Given the description of an element on the screen output the (x, y) to click on. 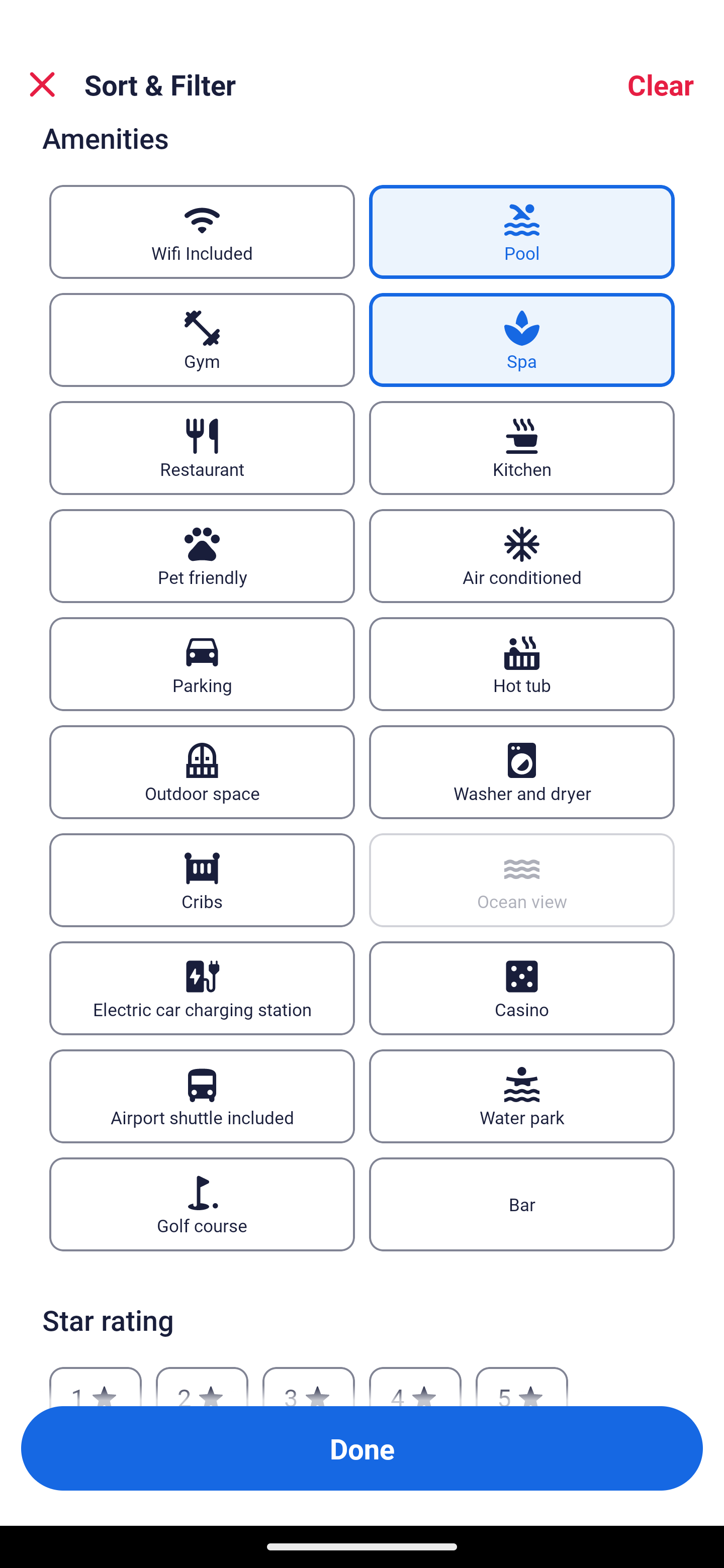
Close Sort and Filter (42, 84)
Clear (660, 84)
Wifi Included (201, 232)
Pool (521, 232)
Gym (201, 340)
Spa (521, 340)
Restaurant (201, 448)
Kitchen (521, 448)
Pet friendly (201, 556)
Air conditioned (521, 556)
Parking (201, 664)
Hot tub (521, 664)
Outdoor space (201, 771)
Washer and dryer (521, 771)
Cribs (201, 879)
Ocean view (521, 879)
Electric car charging station (201, 987)
Casino (521, 987)
Airport shuttle included (201, 1095)
Water park (521, 1095)
Golf course (201, 1204)
Bar (521, 1204)
Apply and close Sort and Filter Done (361, 1448)
